Given the description of an element on the screen output the (x, y) to click on. 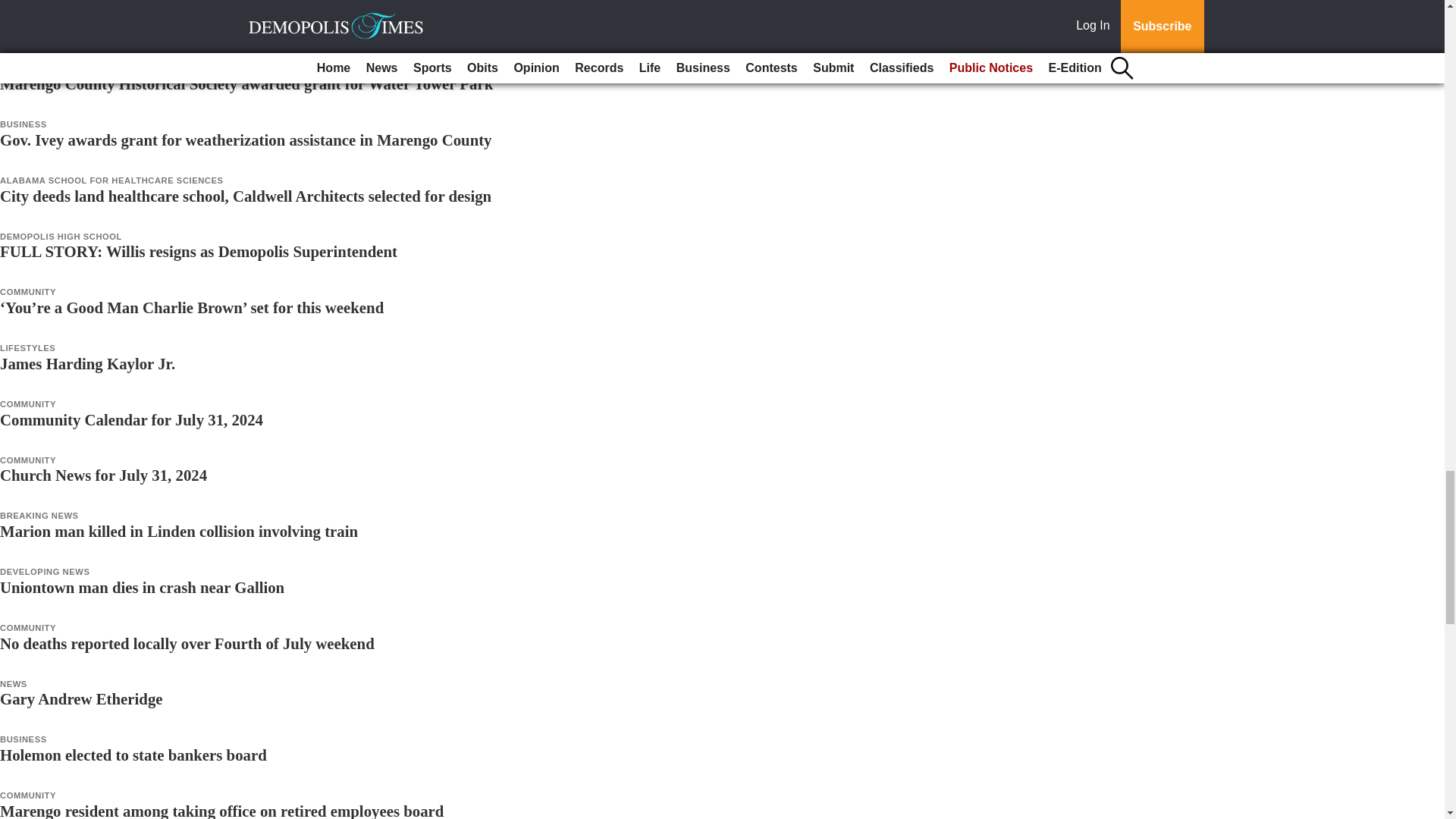
Demopolis student on winning team at conference (167, 27)
Holemon elected to state bankers board (133, 754)
James Harding Kaylor Jr. (87, 363)
Uniontown man dies in crash near Gallion (141, 587)
FULL STORY: Willis resigns as Demopolis Superintendent (198, 251)
Church News for July 31, 2024 (103, 475)
Community Calendar for July 31, 2024 (131, 419)
